Given the description of an element on the screen output the (x, y) to click on. 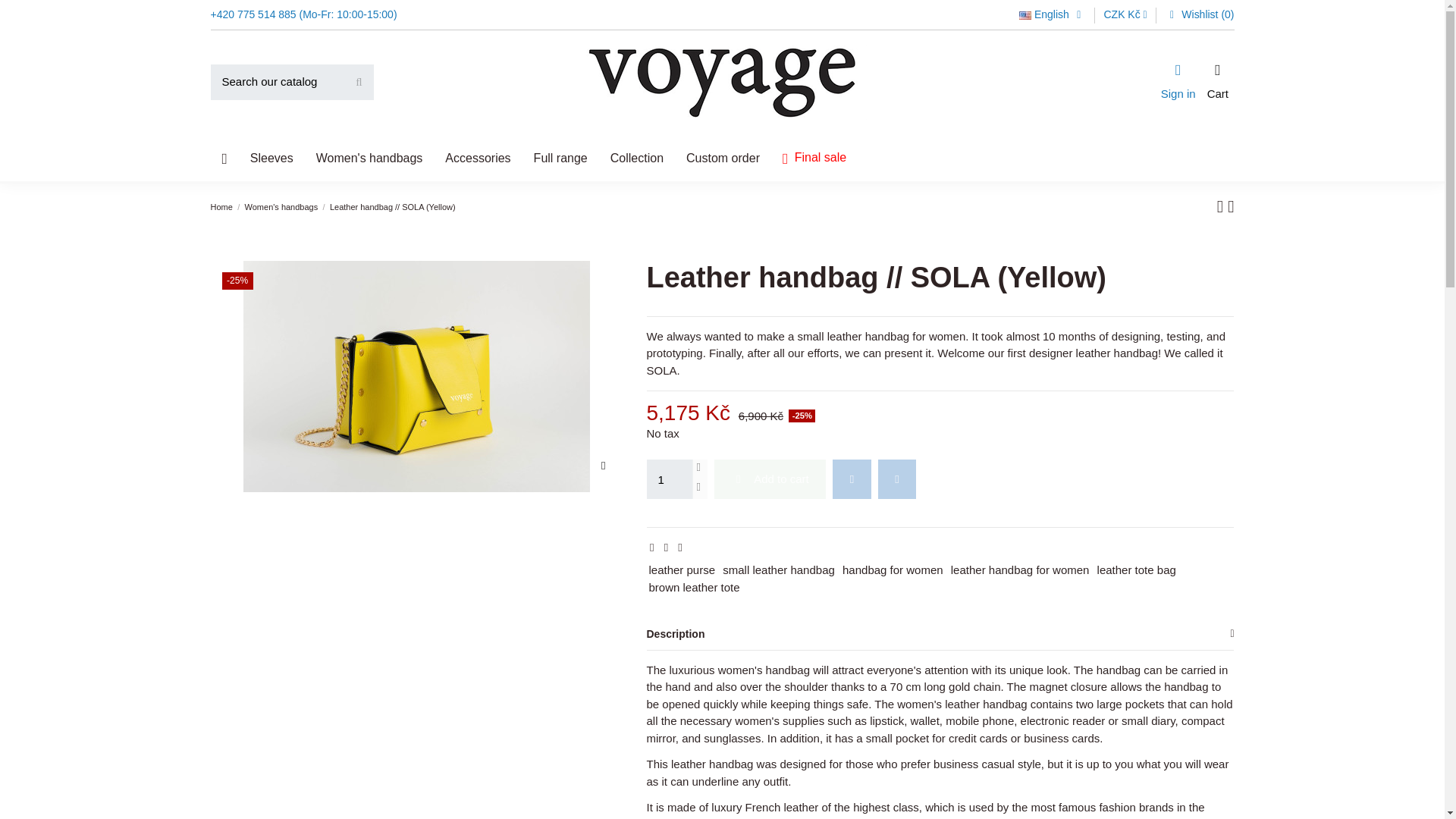
Sleeves (271, 157)
1 (669, 479)
Women's handbags (368, 157)
English (1052, 14)
